Given the description of an element on the screen output the (x, y) to click on. 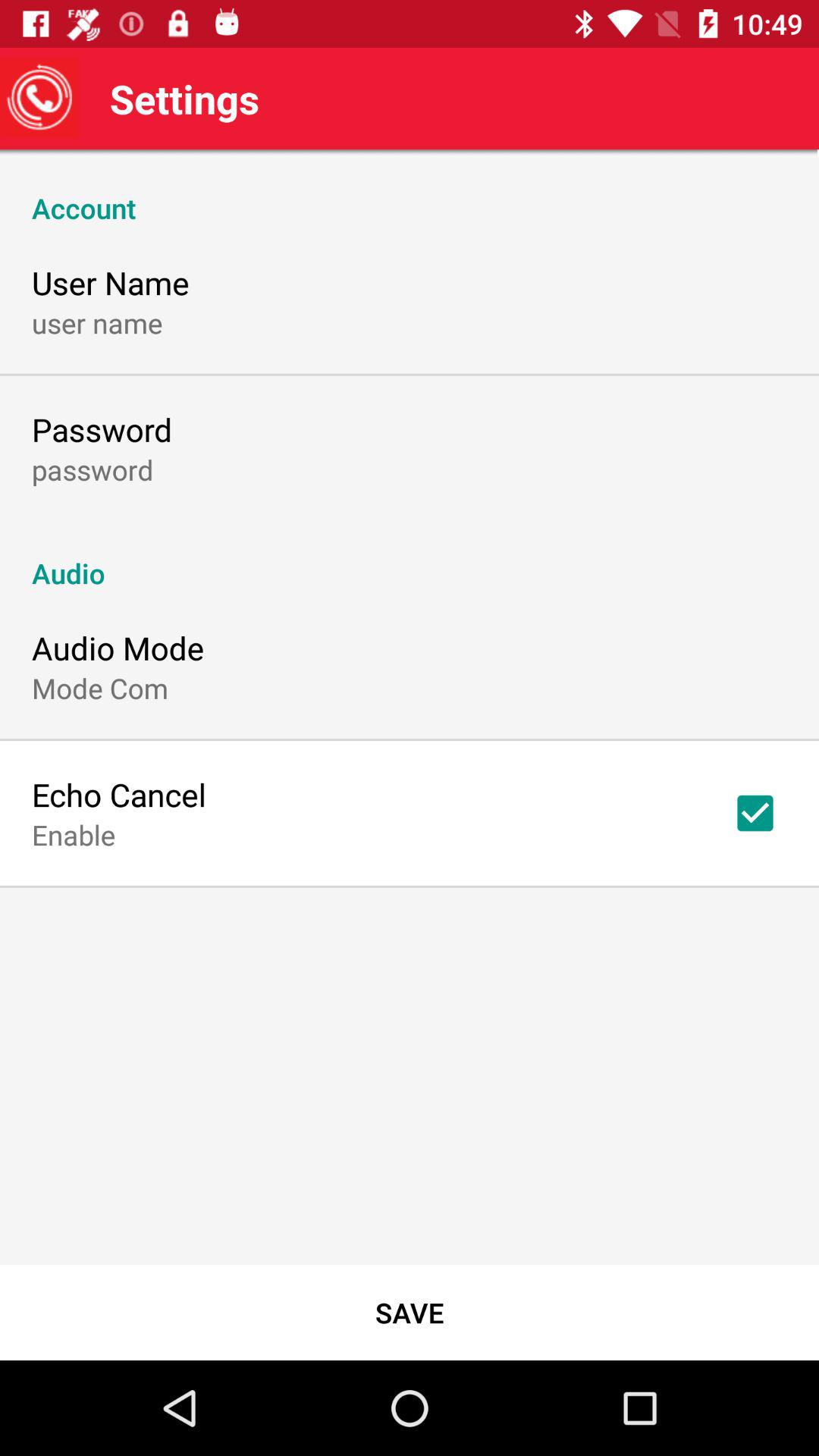
jump to the enable item (73, 834)
